Given the description of an element on the screen output the (x, y) to click on. 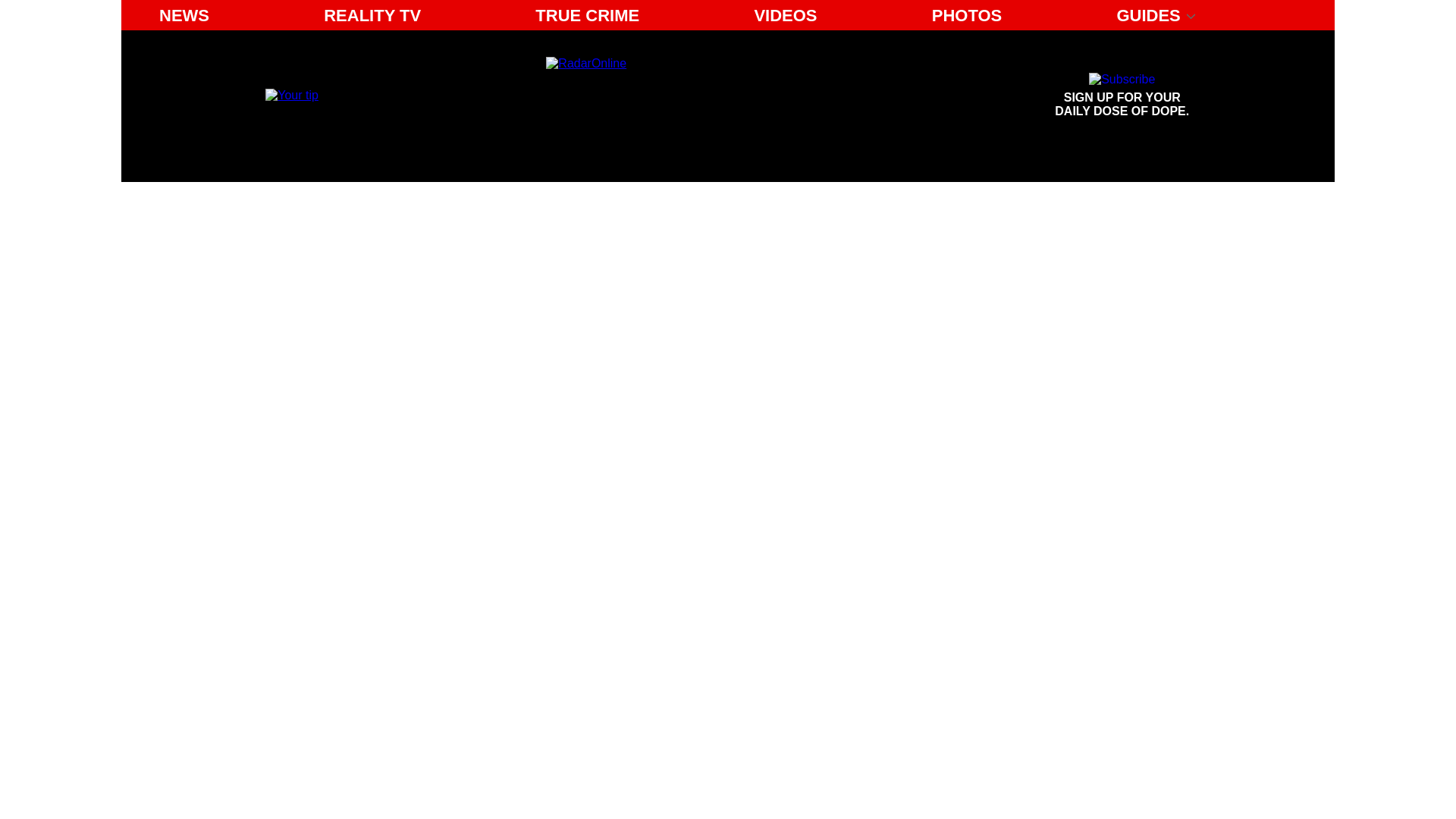
Radar Online (685, 95)
REALITY TV (371, 15)
VIDEOS (784, 15)
PHOTOS (967, 15)
TRUE CRIME (586, 15)
Sign up for your daily dose of dope. (1122, 94)
Email us your tip (291, 94)
NEWS (1122, 94)
